Given the description of an element on the screen output the (x, y) to click on. 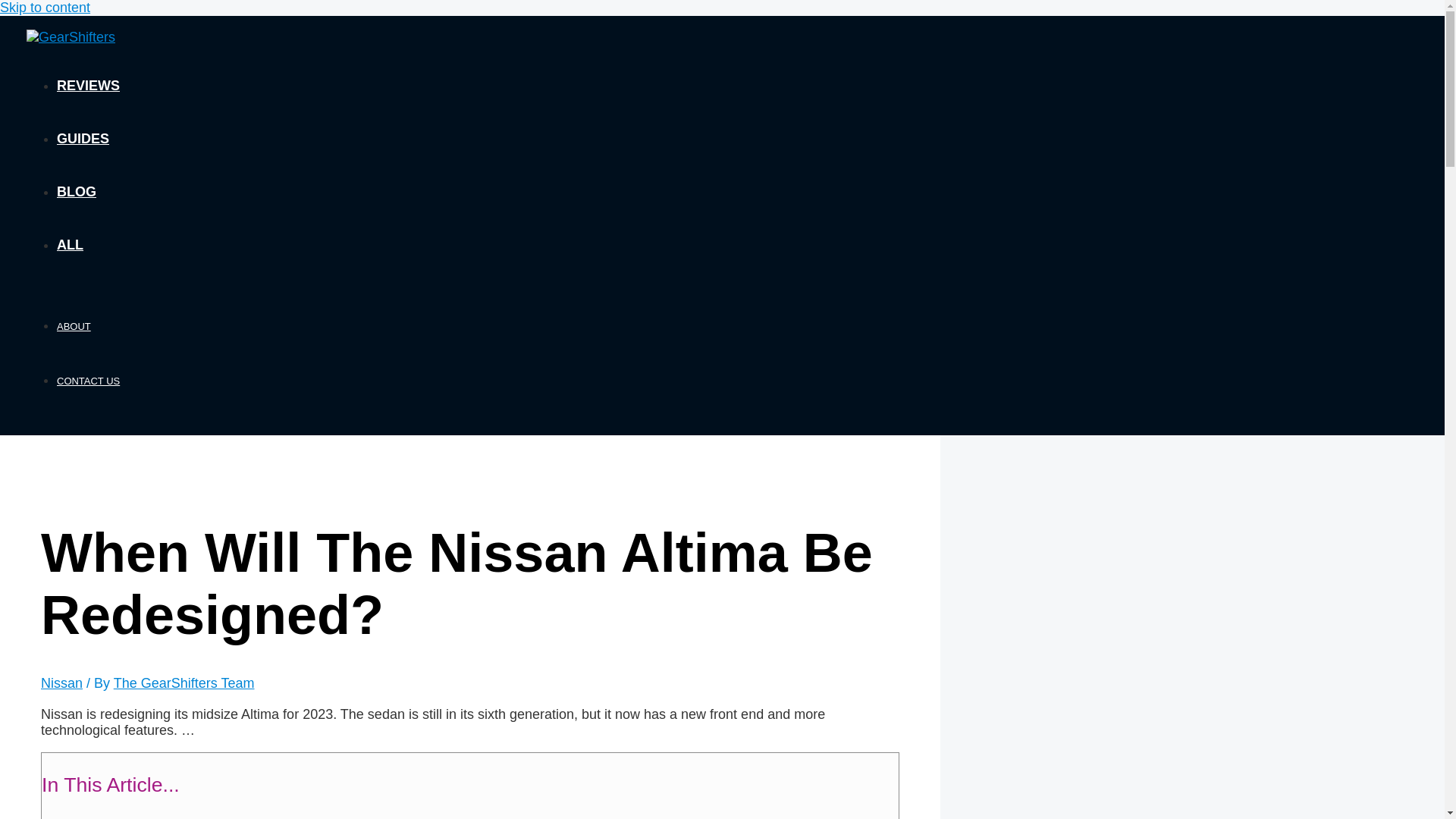
The GearShifters Team (183, 683)
CONTACT US (87, 380)
GUIDES (82, 138)
REVIEWS (87, 85)
BLOG (76, 191)
ALL (69, 244)
Nissan (61, 683)
ABOUT (73, 326)
Nissan Altima versus rivals (184, 817)
Skip to content (45, 7)
Skip to content (45, 7)
View all posts by The GearShifters Team (183, 683)
Nissan Altima versus rivals (184, 817)
